Given the description of an element on the screen output the (x, y) to click on. 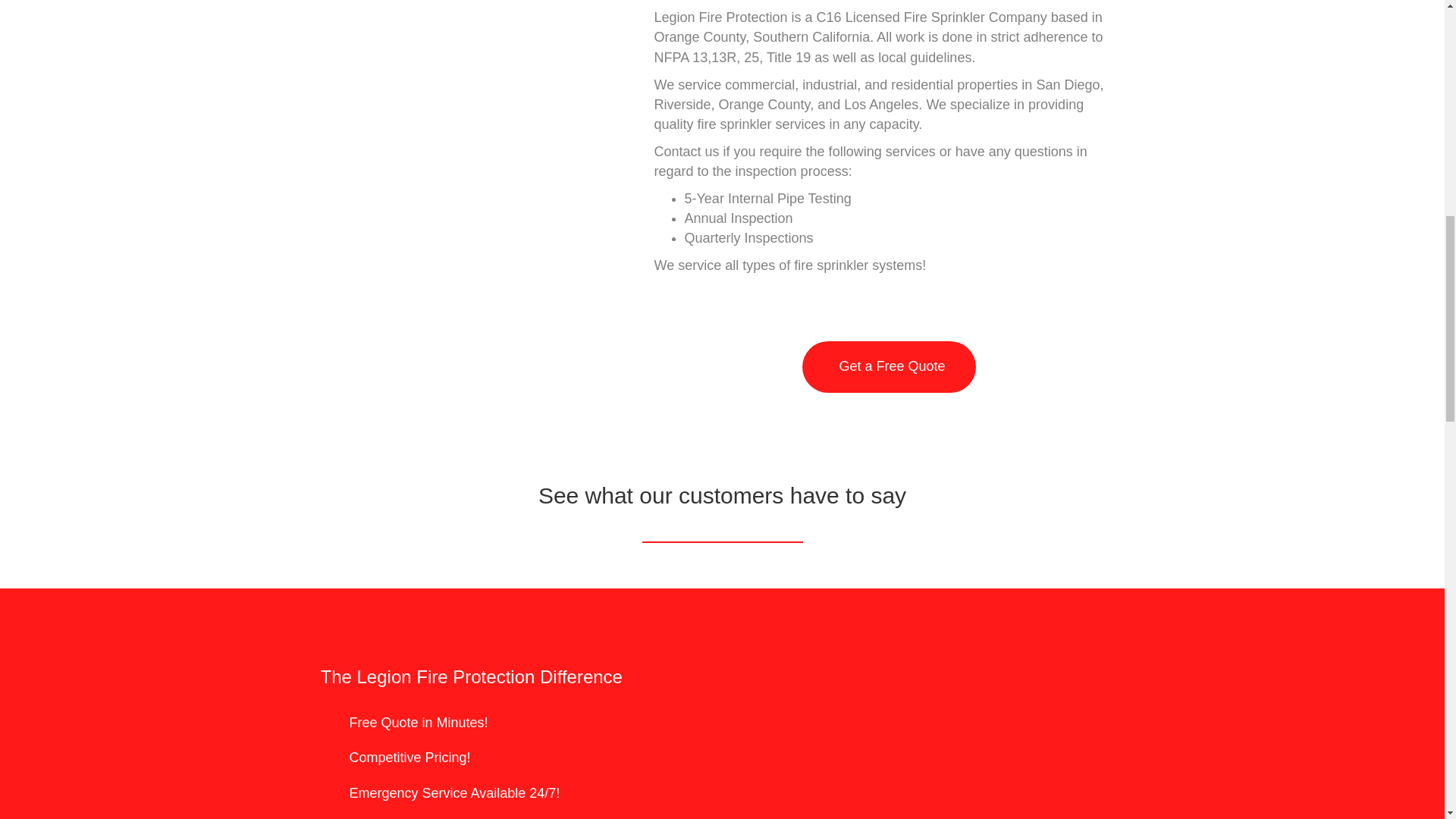
fire sprinkler inspection service (471, 142)
